Given the description of an element on the screen output the (x, y) to click on. 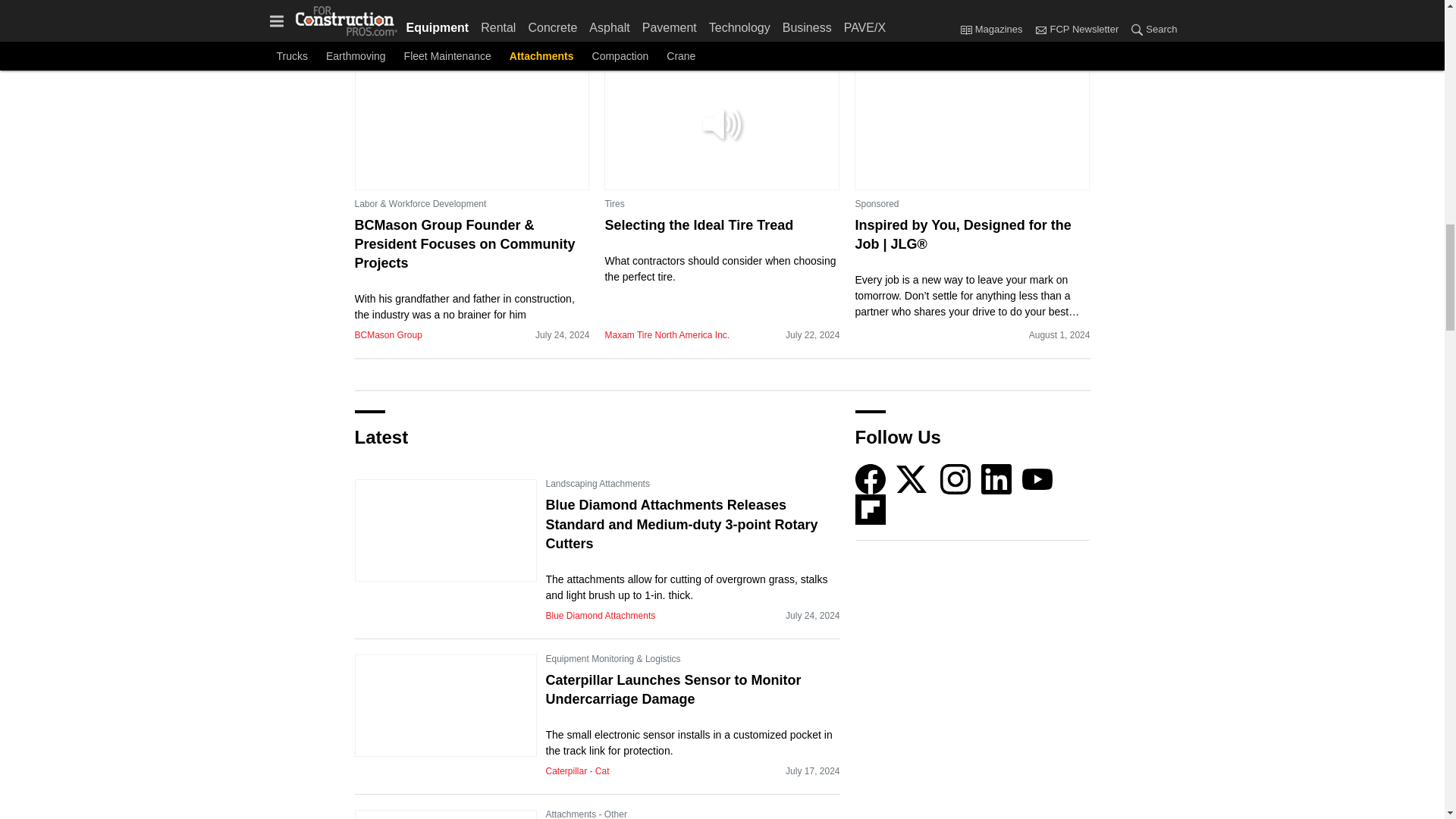
Flipboard icon (870, 509)
LinkedIn icon (996, 479)
Facebook icon (870, 479)
Instagram icon (955, 479)
YouTube icon (1037, 479)
Twitter X icon (911, 479)
Sponsored (876, 203)
